Given the description of an element on the screen output the (x, y) to click on. 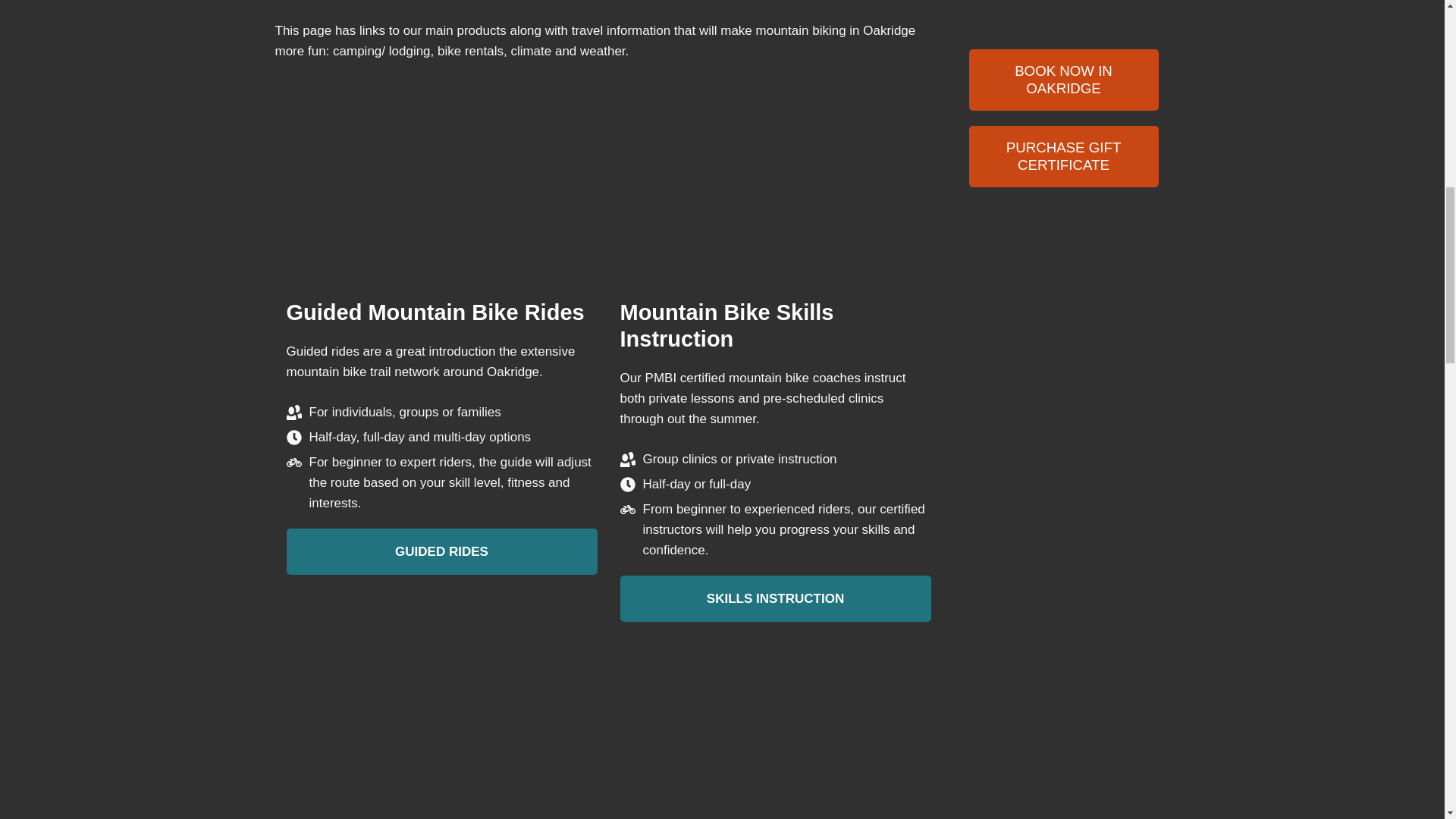
Shannon Black (975, 790)
Roman Pochekuev (975, 676)
Scroll back to top (1406, 720)
Brian Gullette (975, 561)
